Given the description of an element on the screen output the (x, y) to click on. 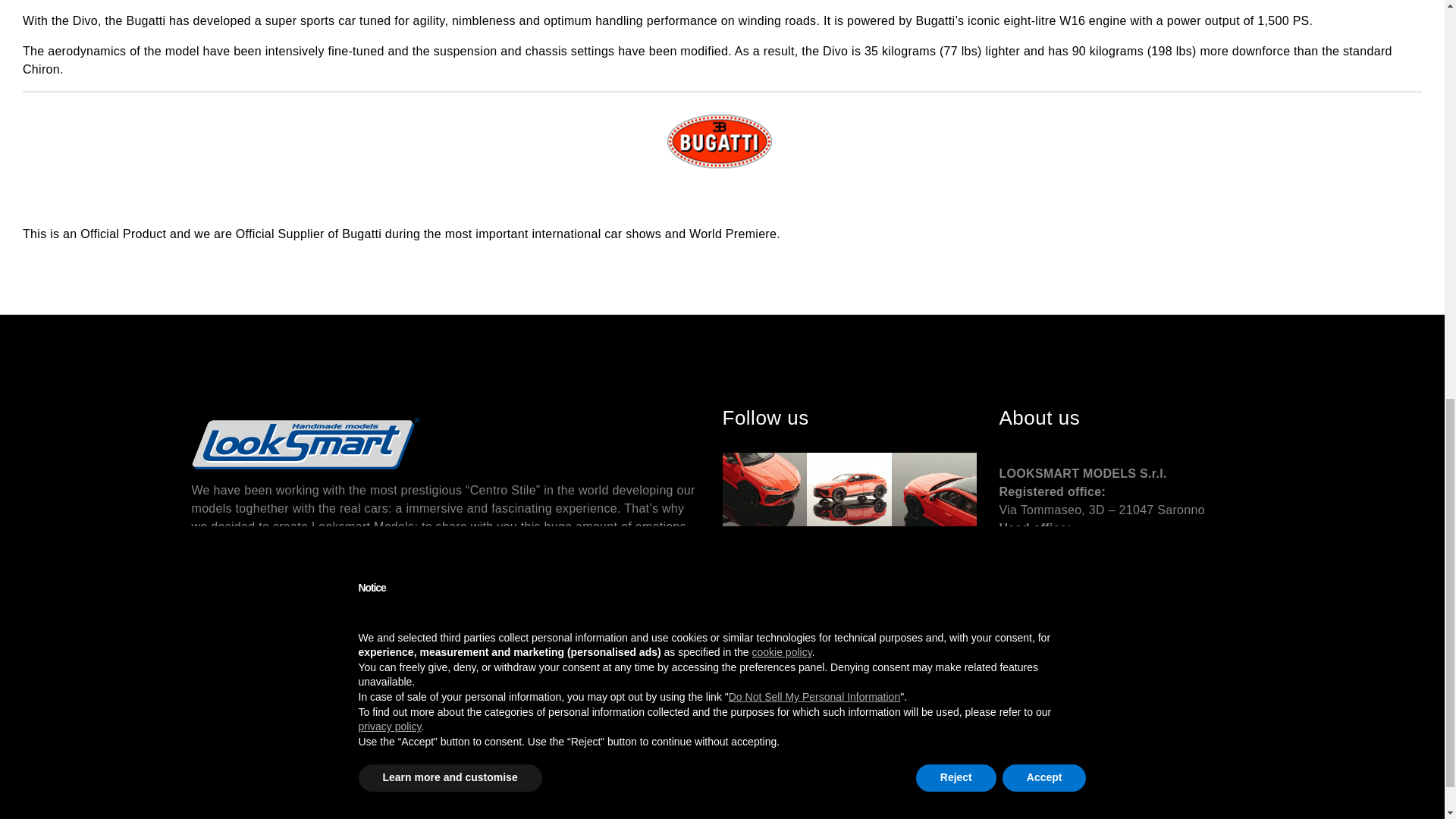
Cookie Policy  (1104, 632)
Privacy Policy  (1033, 632)
